Given the description of an element on the screen output the (x, y) to click on. 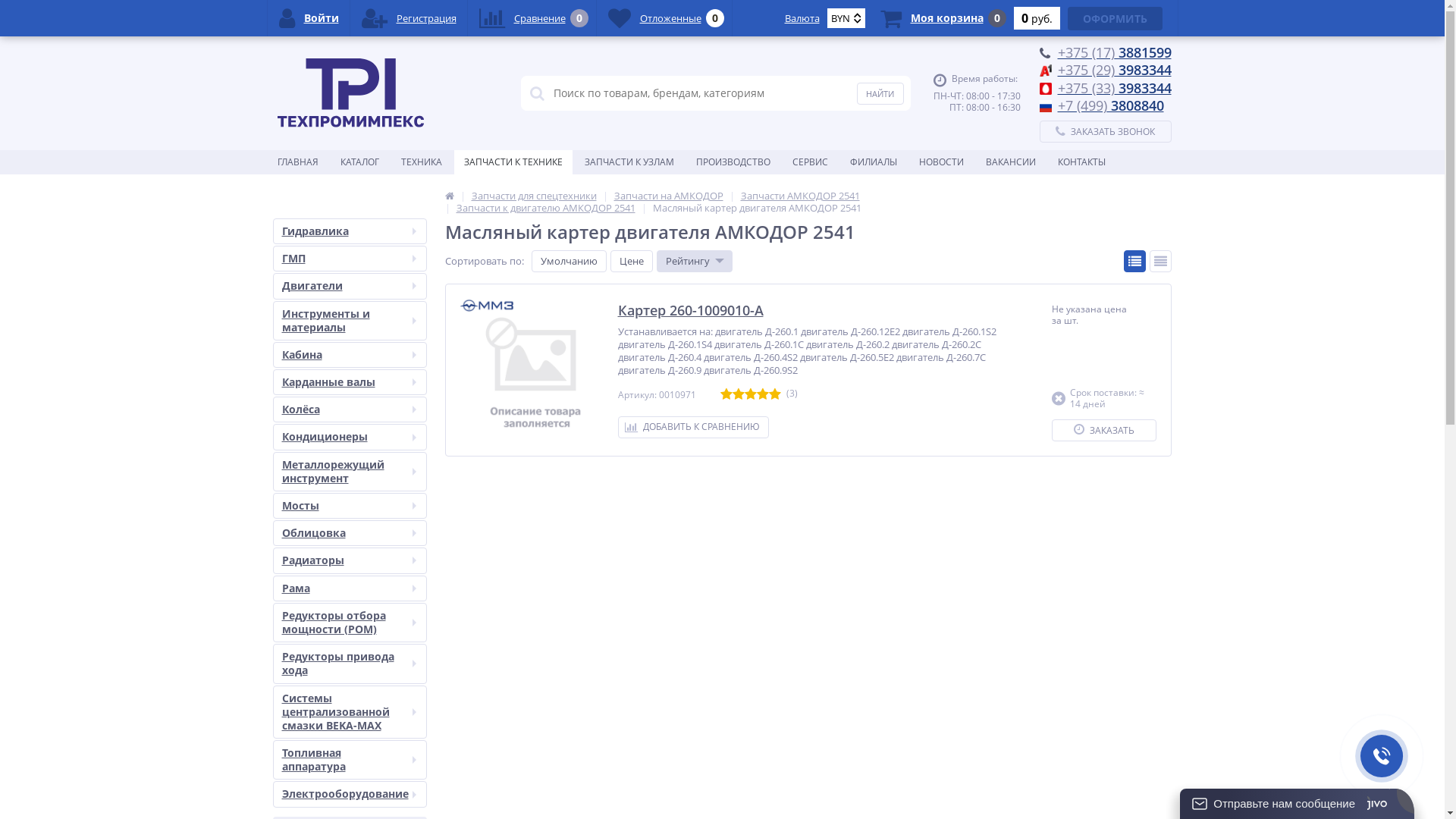
1 Element type: hover (726, 394)
5 Element type: hover (774, 394)
+375 (33) 3983344 Element type: text (1113, 87)
+375 (29) 3983344 Element type: text (1113, 69)
+7 (499) 3808840 Element type: text (1110, 105)
+375 (17) 3881599 Element type: text (1113, 52)
3 Element type: hover (750, 394)
2 Element type: hover (738, 394)
4 Element type: hover (762, 394)
